Given the description of an element on the screen output the (x, y) to click on. 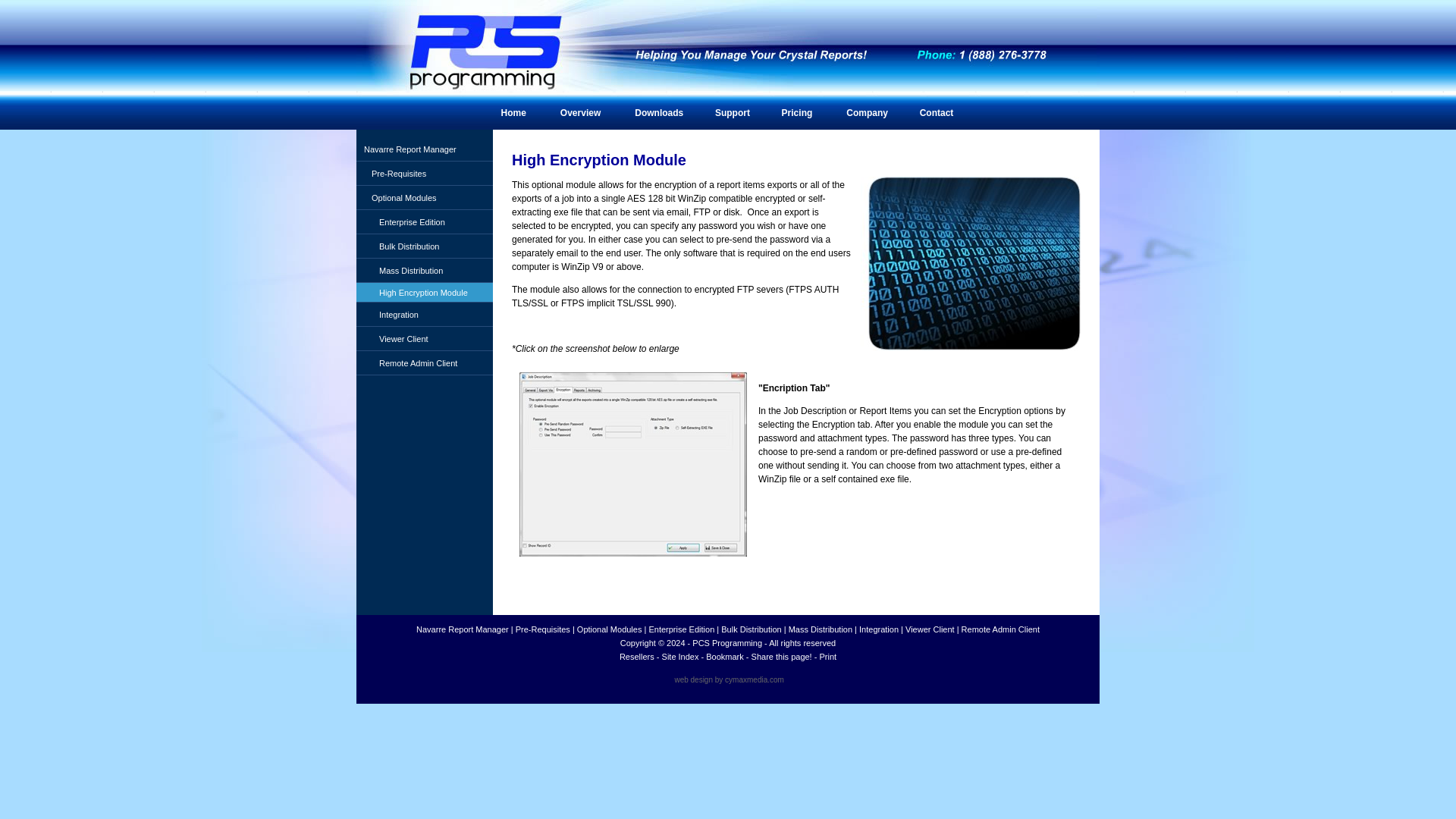
Pre-Requisites (424, 173)
Share this page! (781, 655)
Bulk Distribution (424, 246)
Integration (424, 314)
Overview (579, 113)
Navarre Report Manager (424, 149)
Pre-Requisites (424, 173)
Navarre Report Manager (424, 149)
Remote Admin Client (999, 628)
Mass Distribution (820, 628)
Support (732, 113)
Mass Distribution (820, 628)
Remote Admin Client (424, 363)
Enterprise Edition (680, 628)
